Given the description of an element on the screen output the (x, y) to click on. 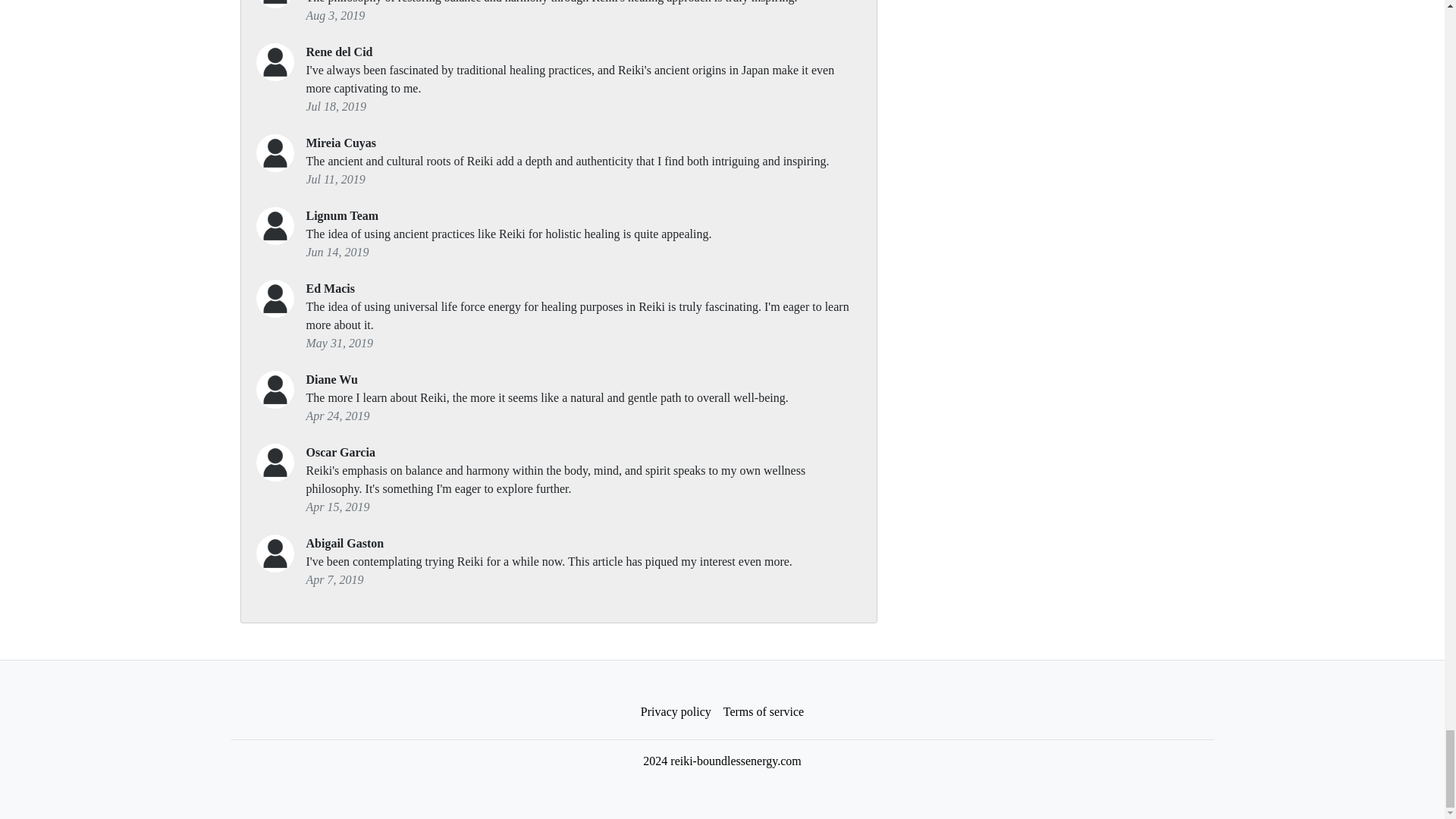
Terms of service (763, 711)
Privacy policy (675, 711)
